Given the description of an element on the screen output the (x, y) to click on. 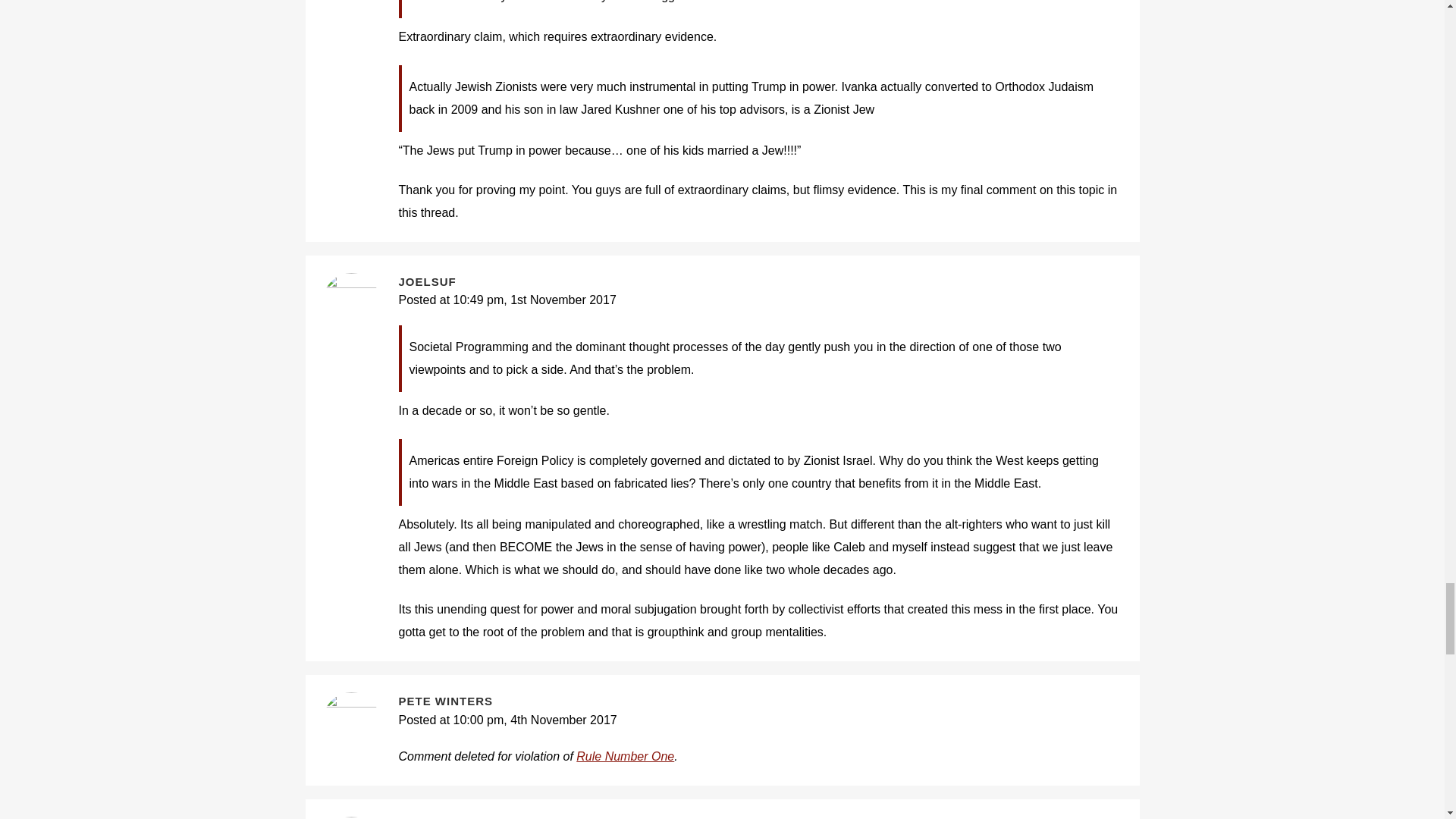
Rule Number One (625, 756)
